Given the description of an element on the screen output the (x, y) to click on. 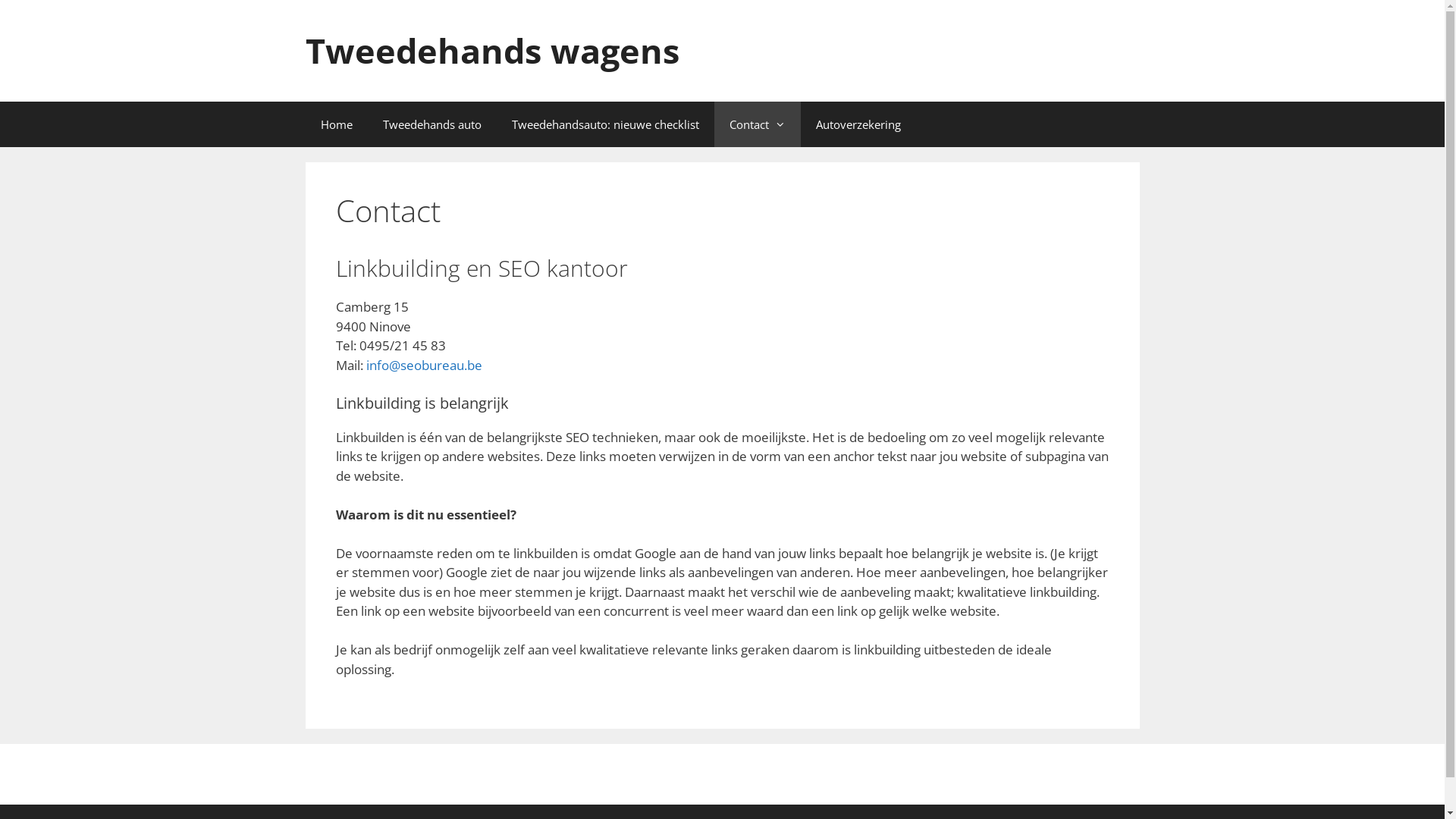
Home Element type: text (335, 124)
Tweedehands auto Element type: text (431, 124)
Tweedehands wagens Element type: text (491, 50)
Autoverzekering Element type: text (858, 124)
info@seobureau.be Element type: text (423, 364)
Contact Element type: text (757, 124)
Tweedehandsauto: nieuwe checklist Element type: text (604, 124)
